Given the description of an element on the screen output the (x, y) to click on. 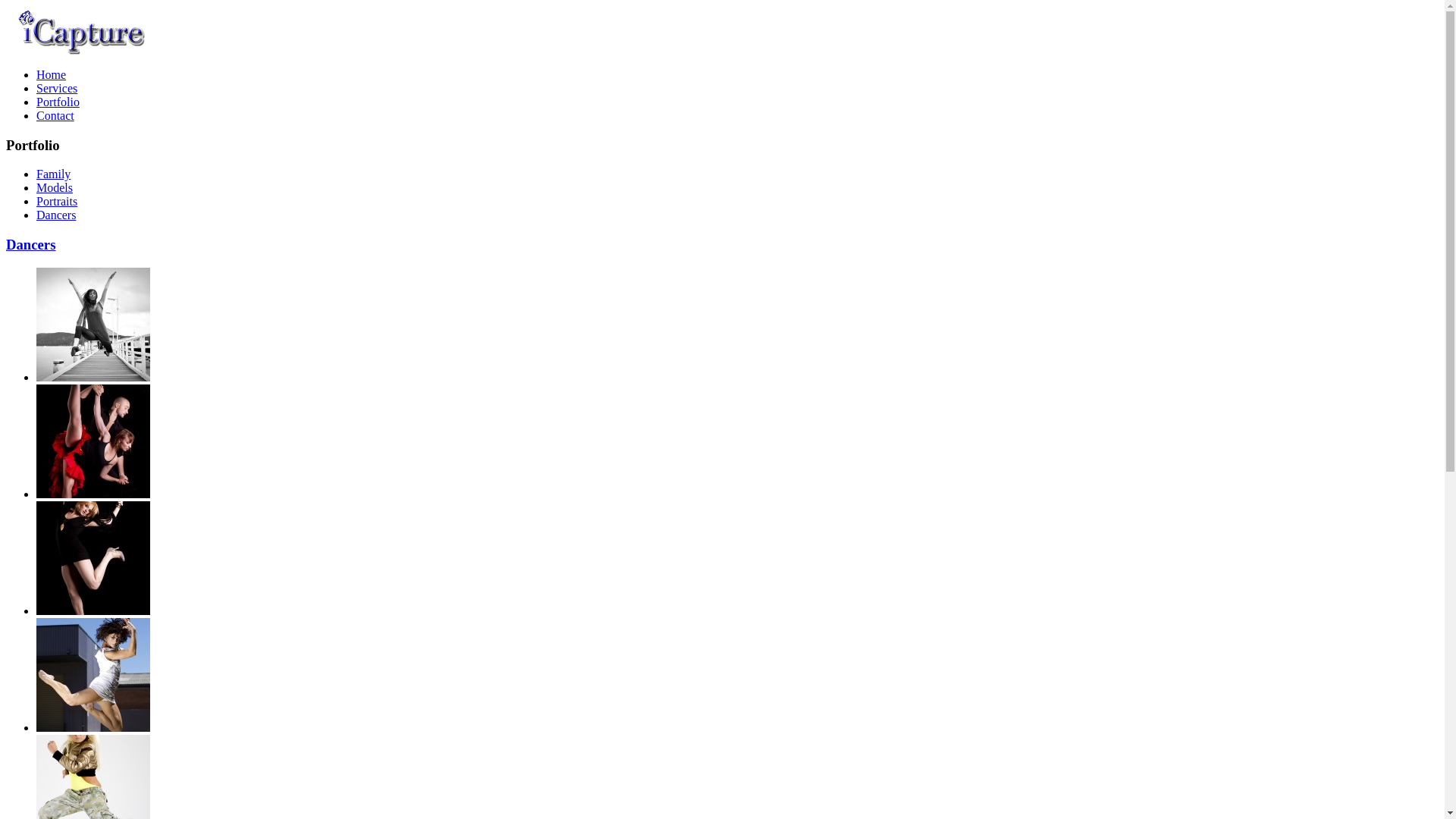
Portraits Element type: text (56, 200)
Dancers Element type: text (30, 244)
Family Element type: text (53, 173)
Models Element type: text (54, 187)
Services Element type: text (56, 87)
Contact Element type: text (55, 115)
Portfolio Element type: text (57, 101)
Dancers Element type: text (55, 214)
Home Element type: text (50, 74)
